Given the description of an element on the screen output the (x, y) to click on. 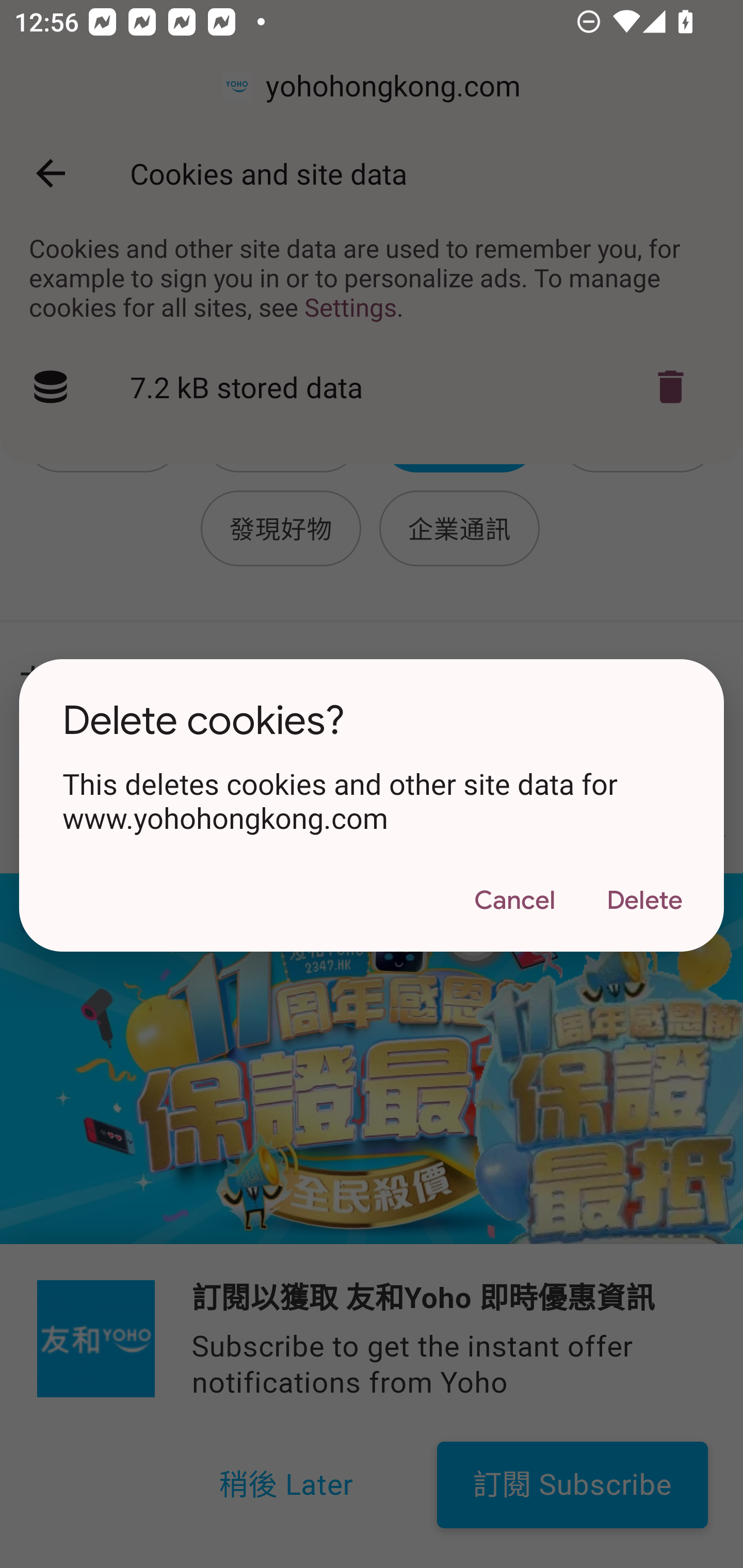
Cancel (514, 900)
Delete (644, 900)
